Given the description of an element on the screen output the (x, y) to click on. 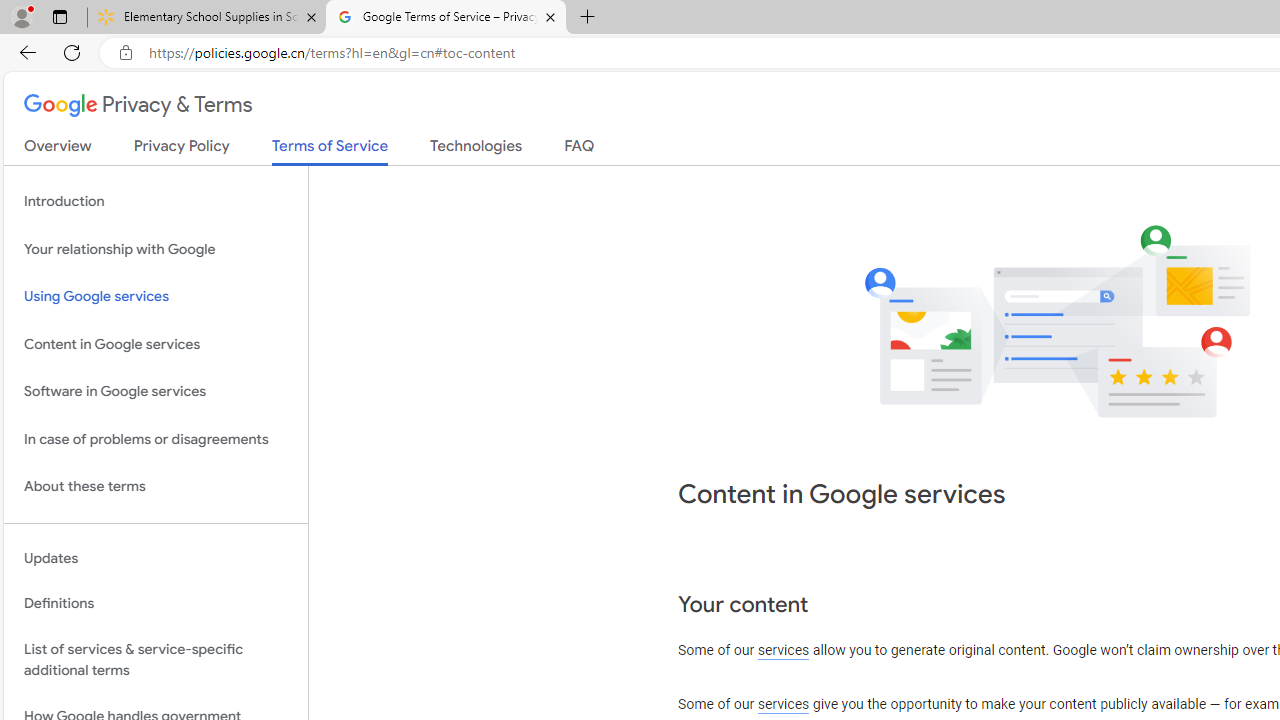
Refresh (72, 52)
View site information (125, 53)
Tab actions menu (59, 16)
New Tab (587, 17)
Close tab (550, 16)
Back (24, 52)
